Given the description of an element on the screen output the (x, y) to click on. 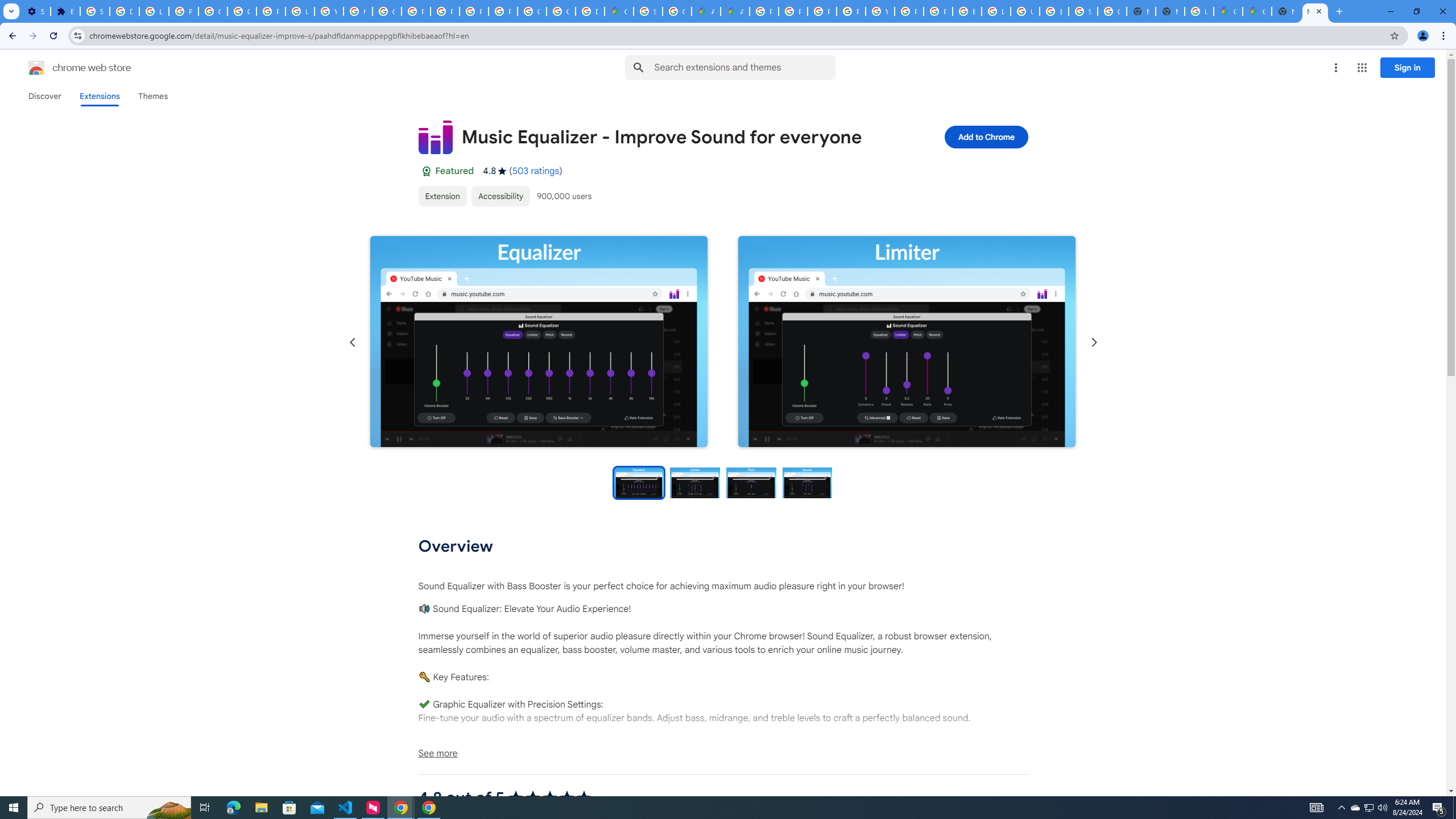
Chrome Web Store logo chrome web store (67, 67)
Sign in (1407, 67)
New Tab (1338, 11)
Featured Badge (425, 170)
https://scholar.google.com/ (357, 11)
Item media 2 screenshot (906, 342)
Chrome (1445, 35)
Sign in - Google Accounts (1082, 11)
Learn how to find your photos - Google Photos Help (153, 11)
Sign in - Google Accounts (95, 11)
